Given the description of an element on the screen output the (x, y) to click on. 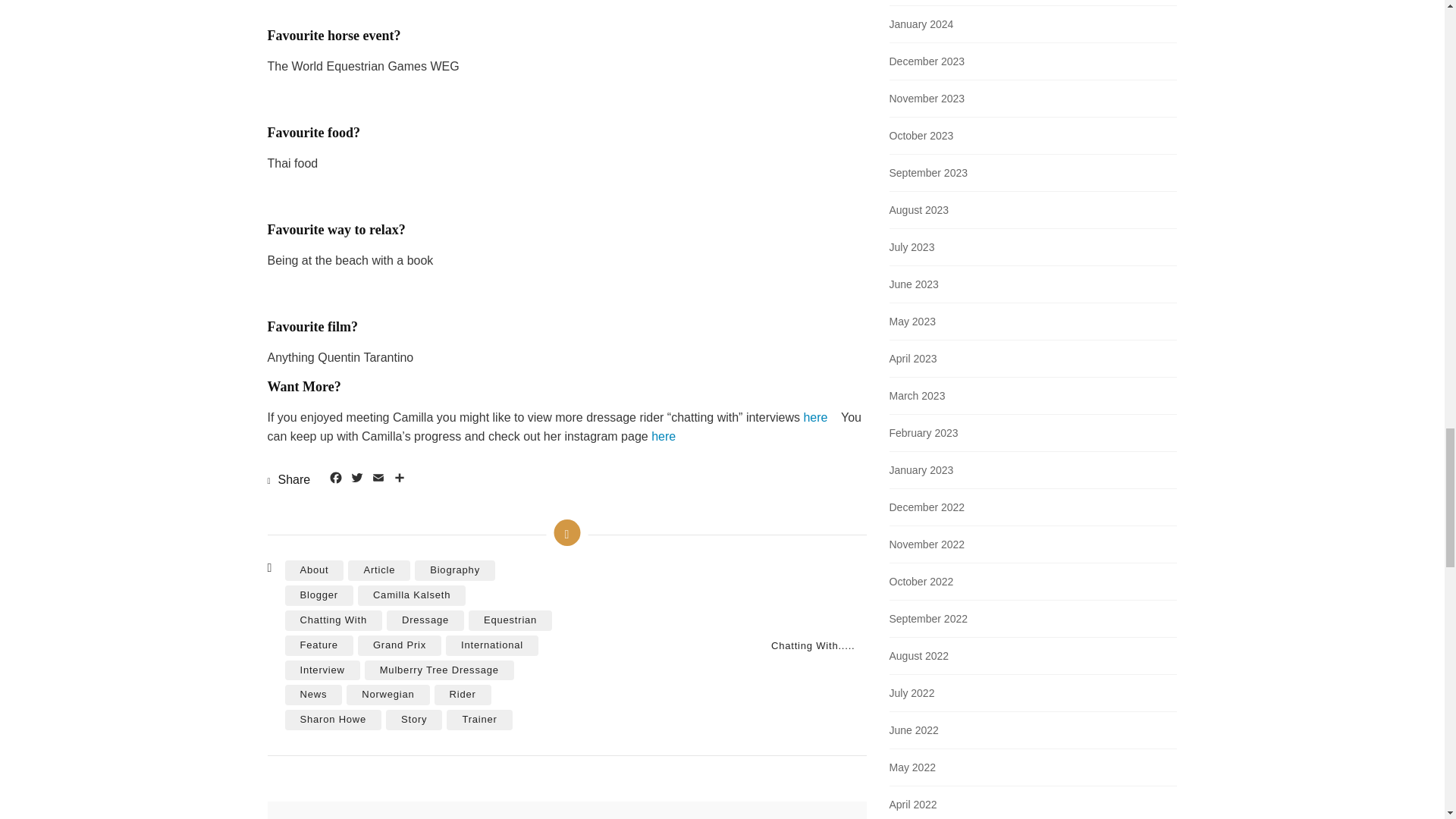
About (314, 570)
Facebook (335, 479)
here (662, 436)
Biography (454, 570)
Facebook (335, 479)
Email (378, 479)
Email (378, 479)
Article (378, 570)
Twitter (357, 479)
here (815, 417)
Twitter (357, 479)
